Given the description of an element on the screen output the (x, y) to click on. 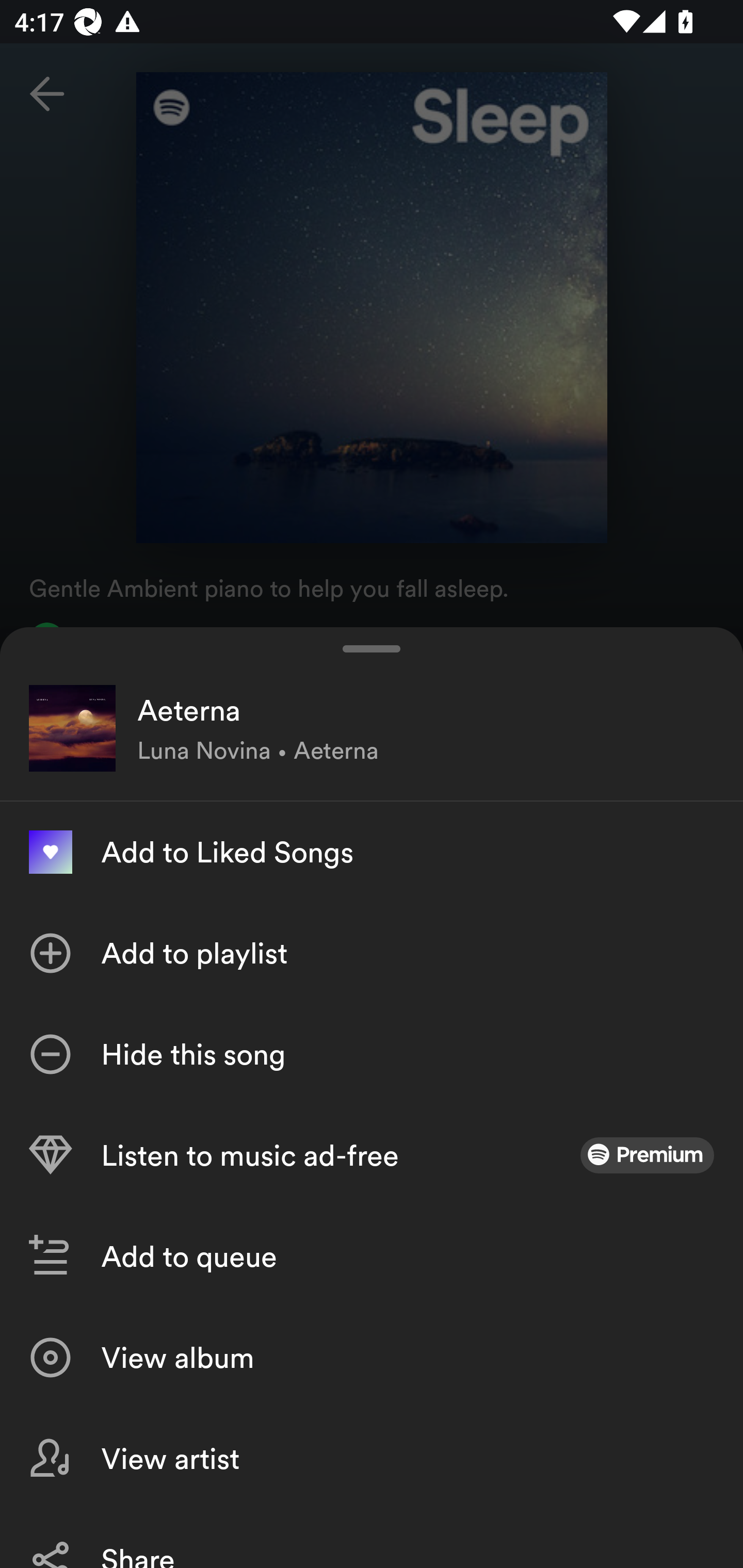
Add to Liked Songs (371, 852)
Add to playlist (371, 953)
Hide this song (371, 1054)
Listen to music ad-free (371, 1155)
Add to queue (371, 1256)
View album (371, 1357)
View artist (371, 1458)
Share (371, 1538)
